Given the description of an element on the screen output the (x, y) to click on. 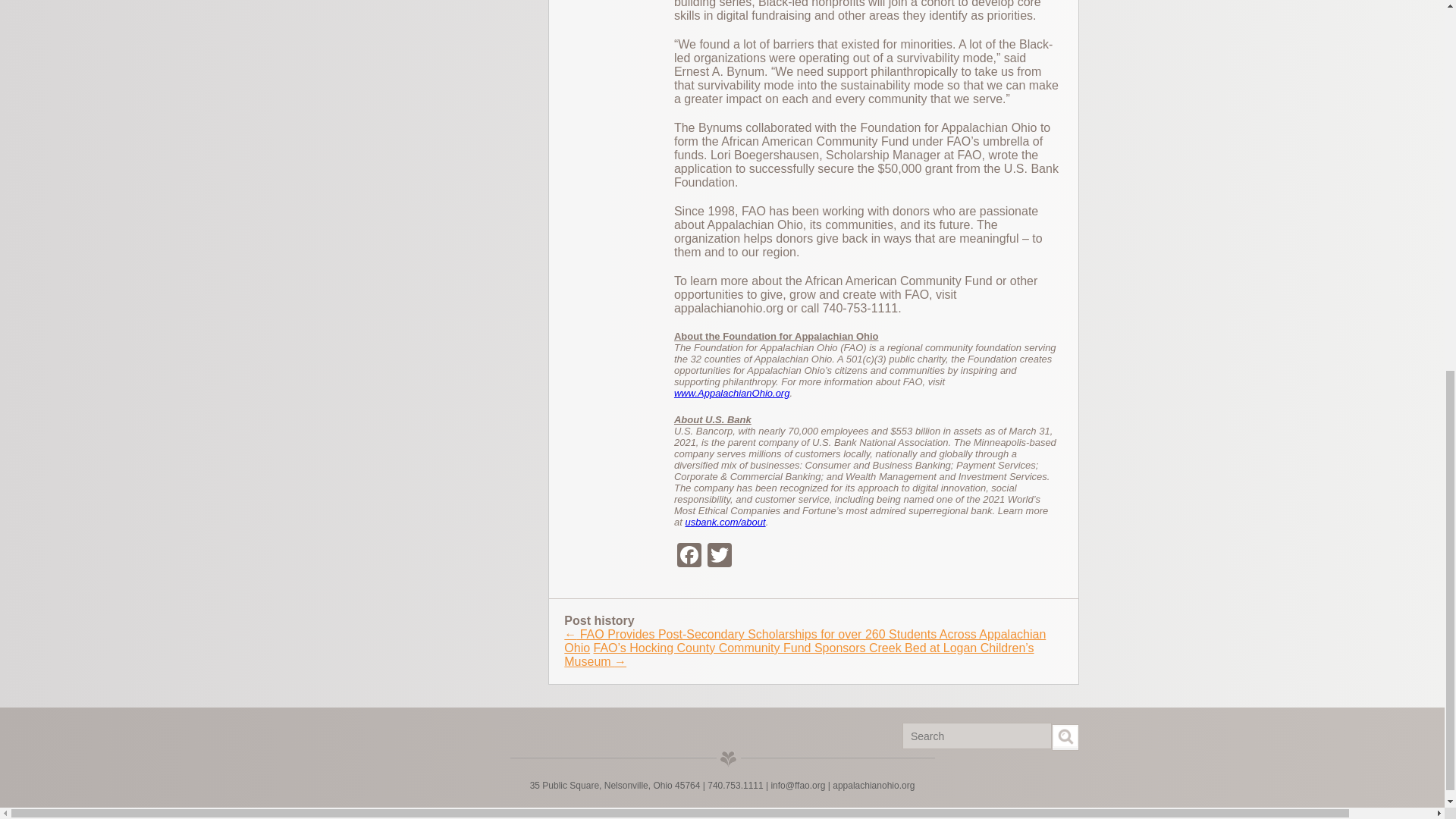
Twitter (719, 556)
Facebook (689, 556)
www.AppalachianOhio.org (731, 392)
